Given the description of an element on the screen output the (x, y) to click on. 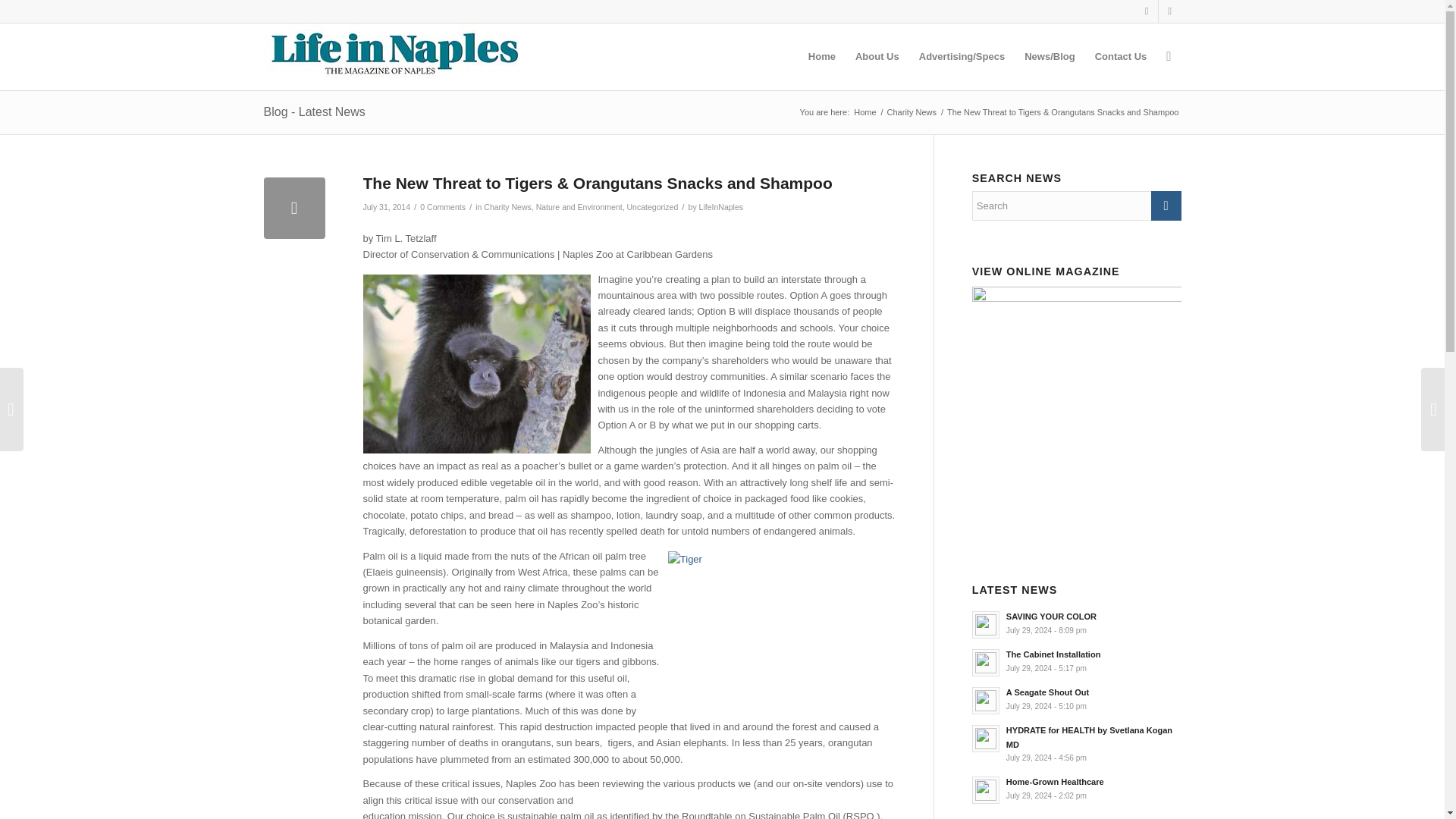
Posts by LifeInNaples (720, 206)
Contact Us (1120, 56)
LifeInNaples (720, 206)
Permanent Link: Blog - Latest News (314, 111)
Uncategorized (652, 206)
Twitter (1169, 11)
Life In Naples Magazine (864, 112)
Nature and Environment (579, 206)
About Us (876, 56)
Charity News (507, 206)
